Given the description of an element on the screen output the (x, y) to click on. 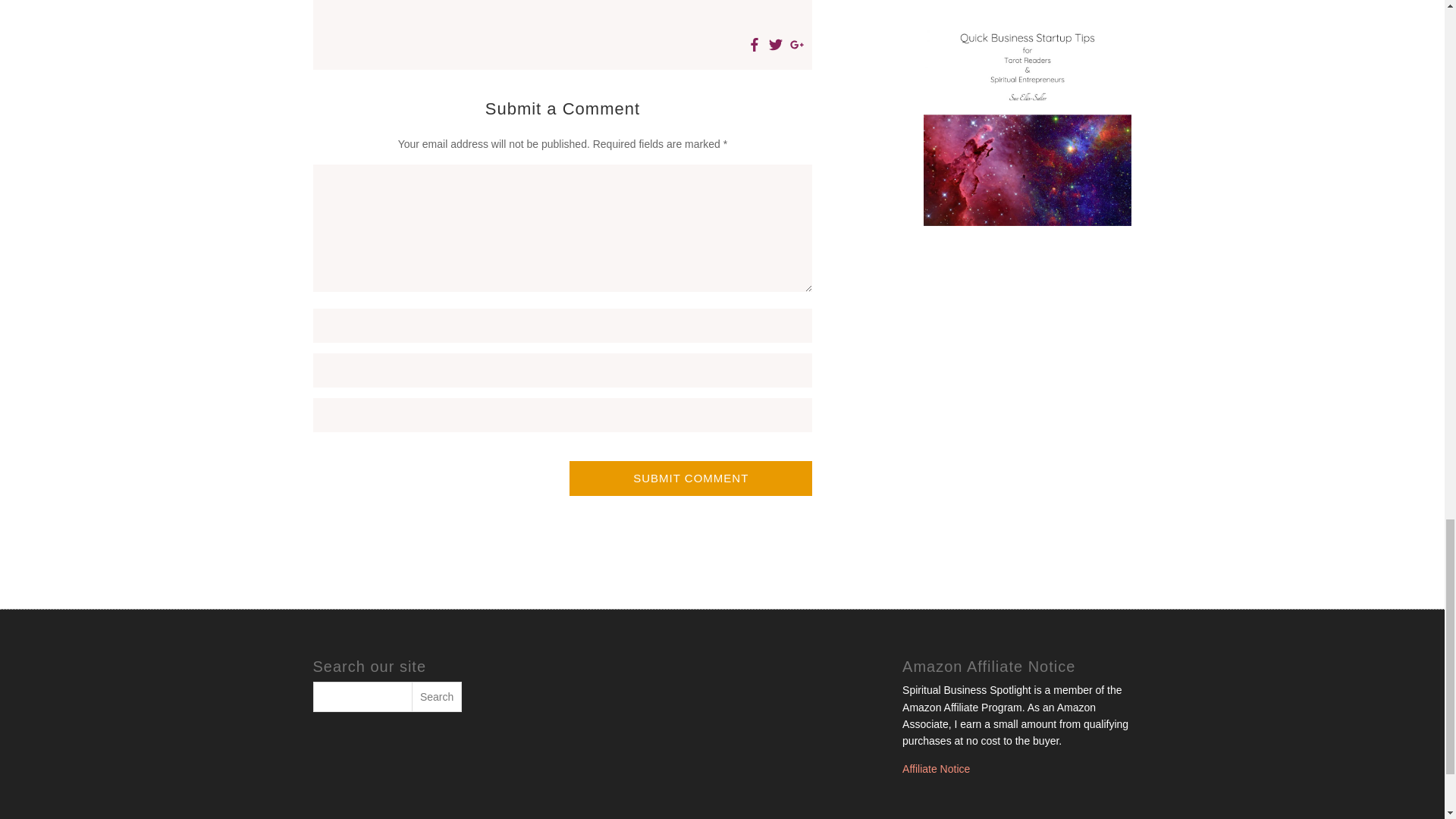
Search (436, 696)
Search (436, 696)
Submit Comment (690, 478)
Affiliate Notice (935, 768)
Submit Comment (690, 478)
